Given the description of an element on the screen output the (x, y) to click on. 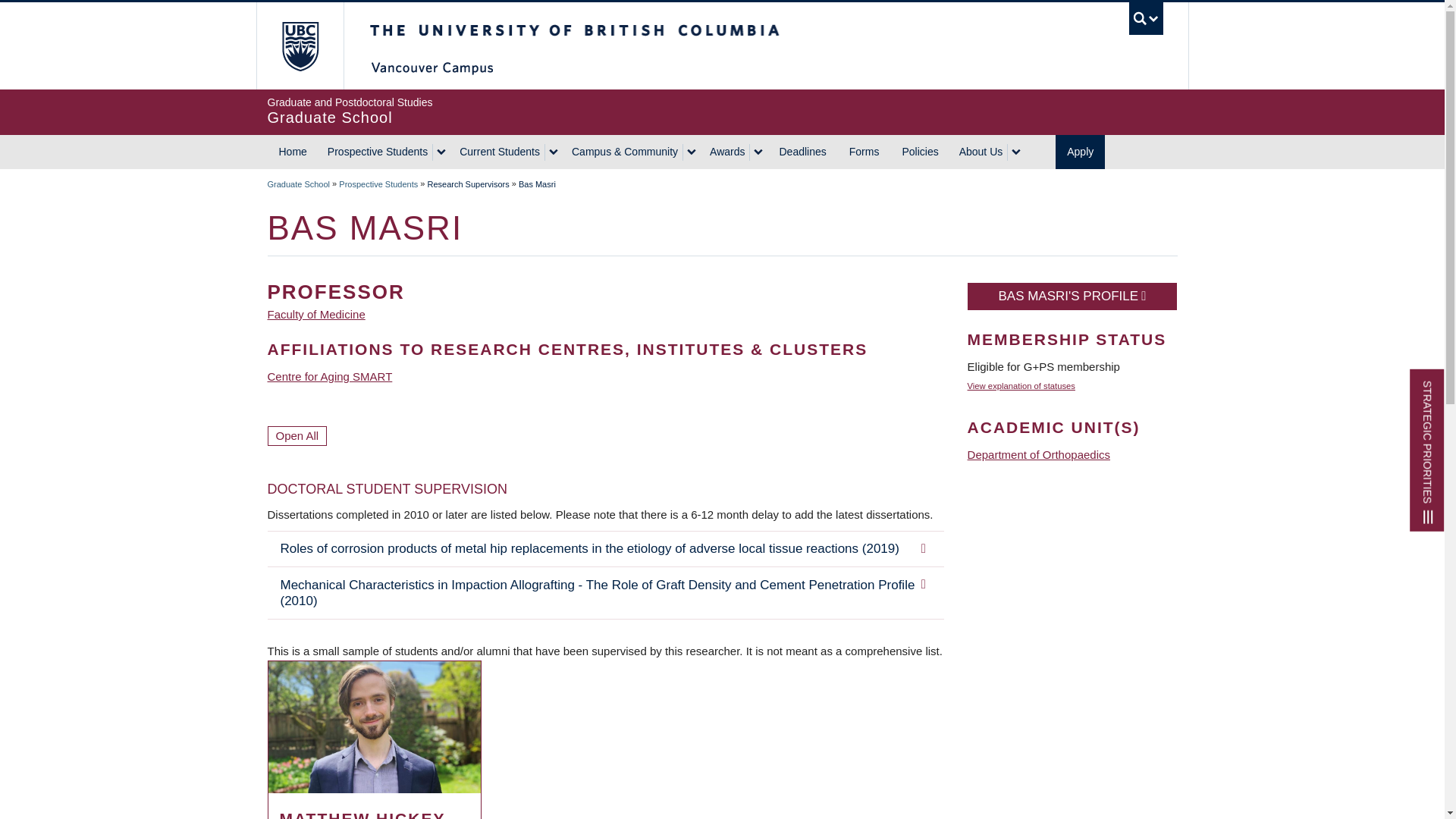
Prospective Students (378, 184)
Home (291, 151)
What does this mean? (1021, 385)
UBC Search (721, 110)
The University of British Columbia (1146, 18)
Current Students (299, 45)
Prospective Students (496, 151)
